Given the description of an element on the screen output the (x, y) to click on. 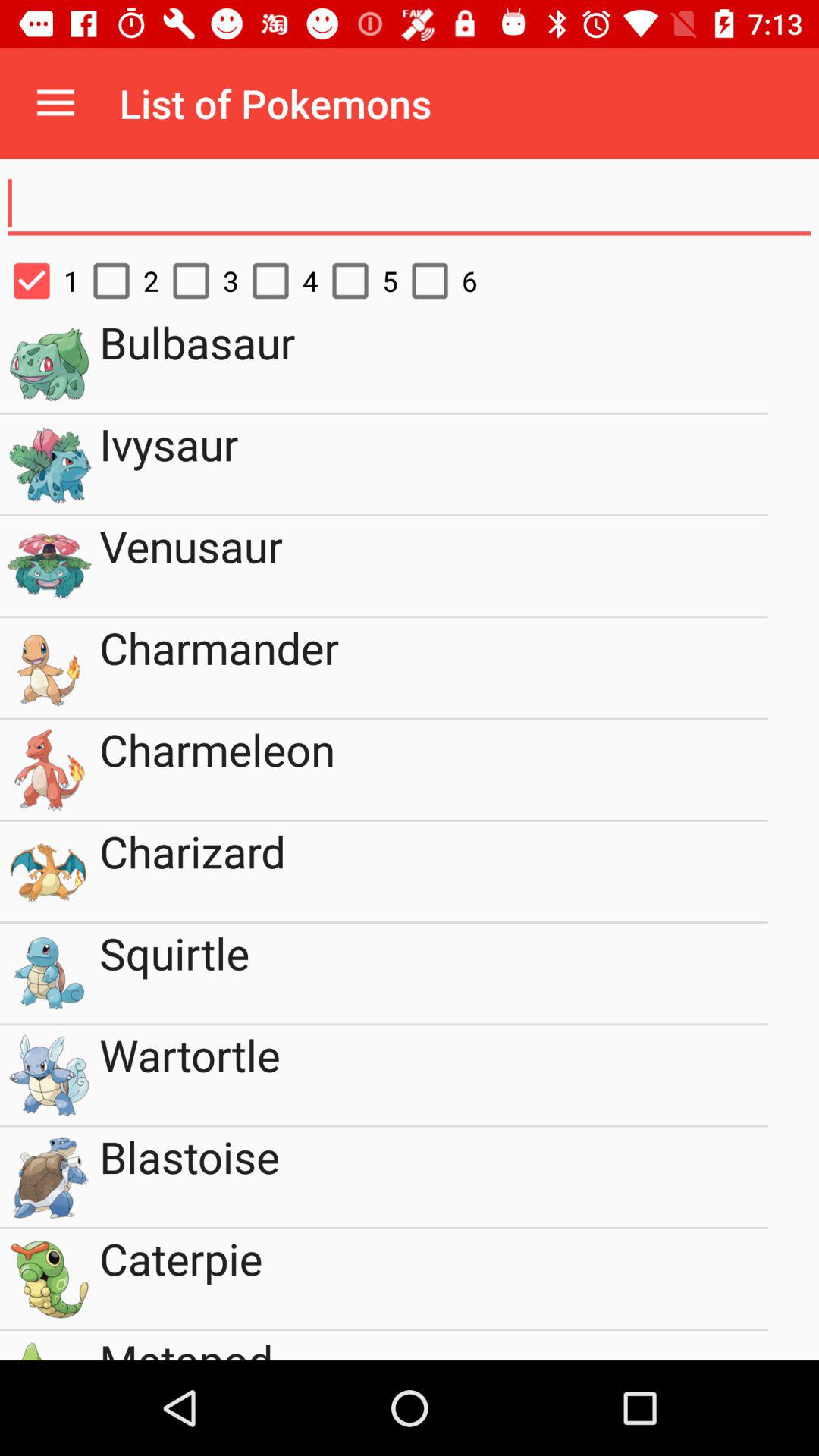
jump until 1 item (39, 280)
